Given the description of an element on the screen output the (x, y) to click on. 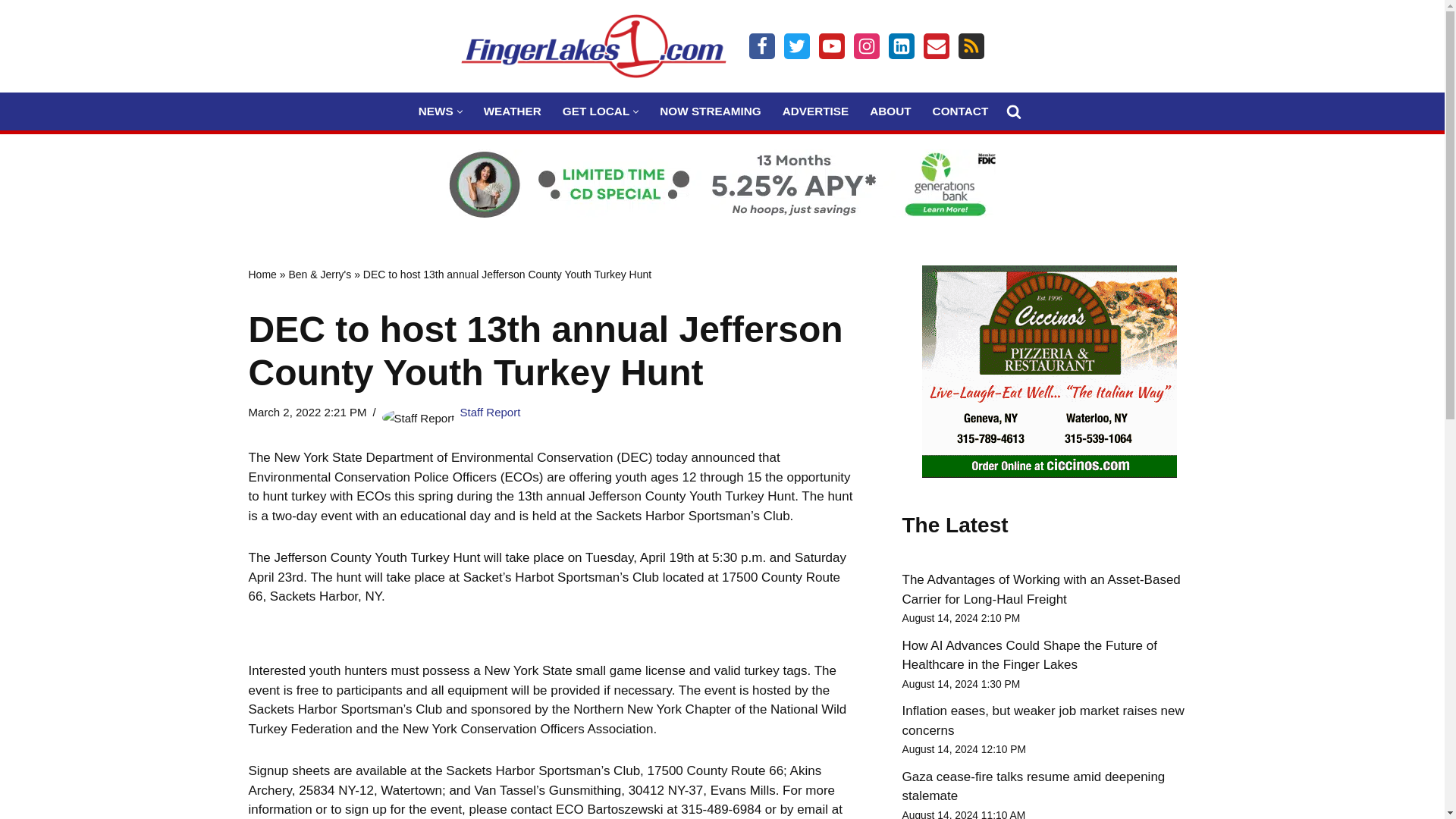
ADVERTISE (815, 111)
Posts by Staff Report (490, 411)
NOW STREAMING (709, 111)
ABOUT (890, 111)
Youtube (831, 45)
WEATHER (512, 111)
CONTACT (960, 111)
LinkIn (901, 45)
Feed (971, 45)
Facebook (761, 45)
